Given the description of an element on the screen output the (x, y) to click on. 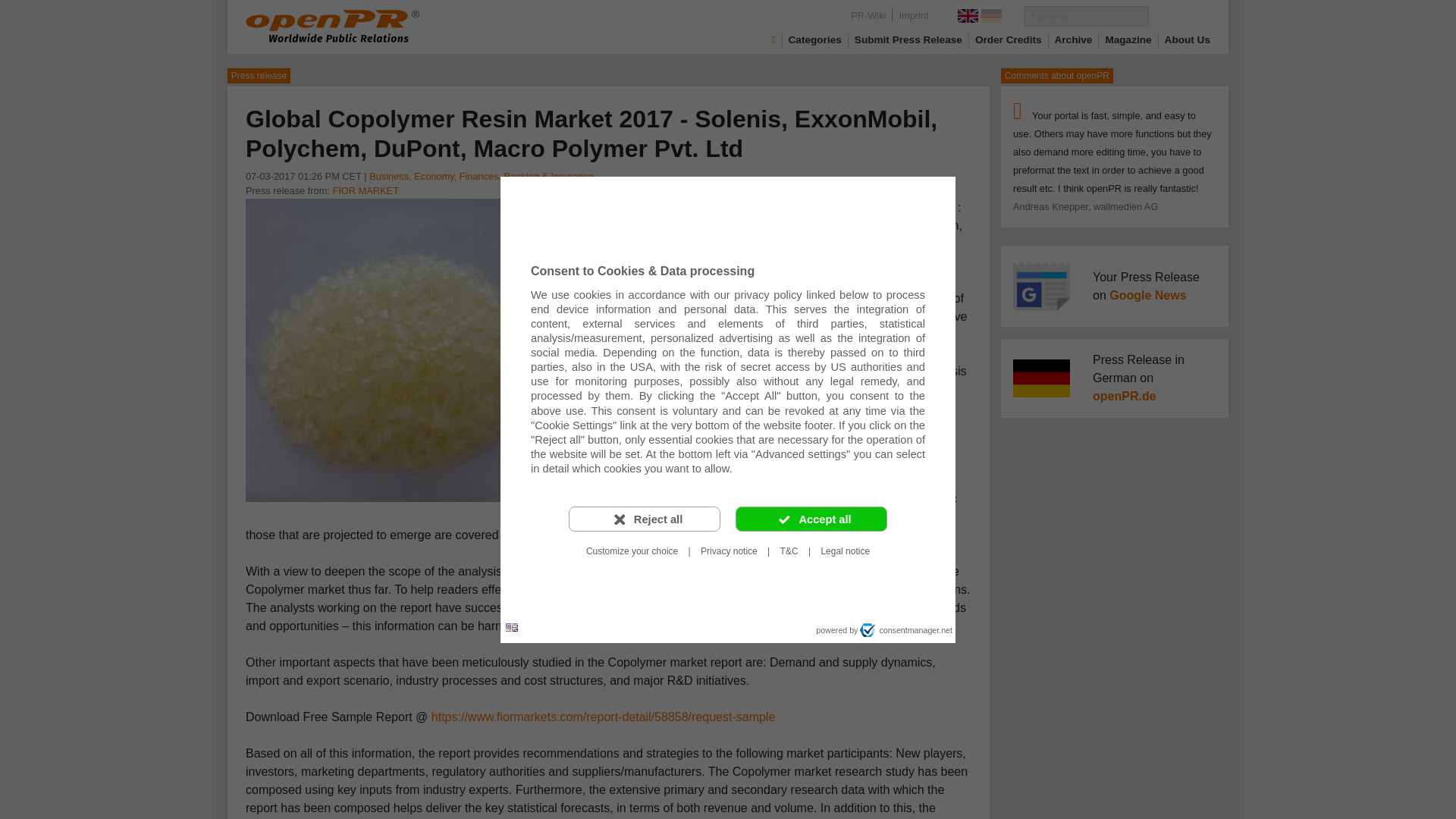
Search   (1178, 15)
Archive (1073, 39)
Submit Press Release (908, 39)
Order Credits (1008, 39)
Customize your choice (631, 550)
PR-Wiki (867, 15)
Language: en (511, 627)
Privacy notice (729, 550)
Global Copolymer Resin Market 2017 - Solenis, ExxonMobil, (397, 349)
archive und pressrelease of FIOR  MARKET (364, 190)
Reject all (644, 518)
Accept all (810, 518)
About Us (1186, 39)
Language: en (511, 627)
Legal notice (844, 550)
